Given the description of an element on the screen output the (x, y) to click on. 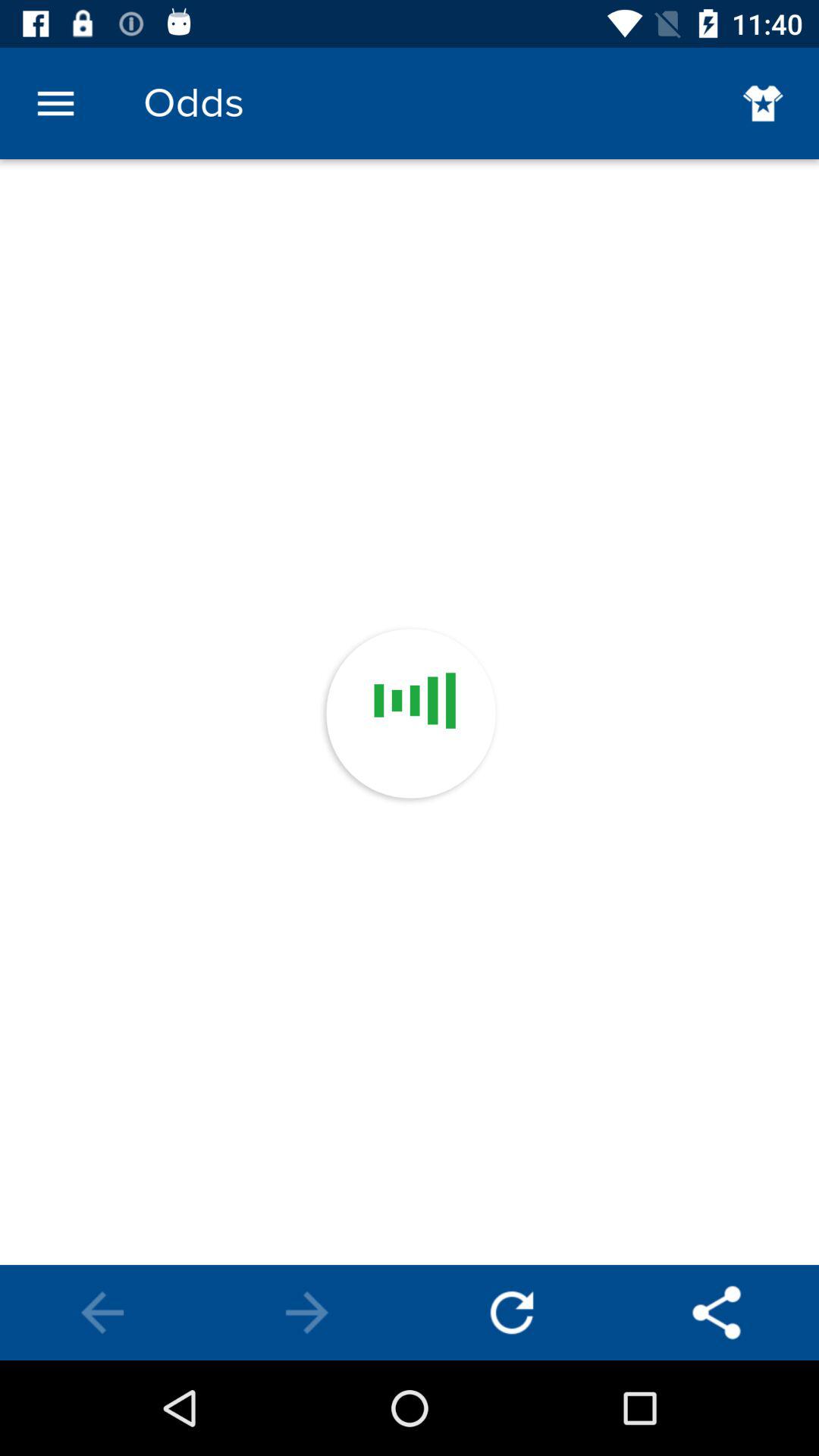
go back (511, 1312)
